Given the description of an element on the screen output the (x, y) to click on. 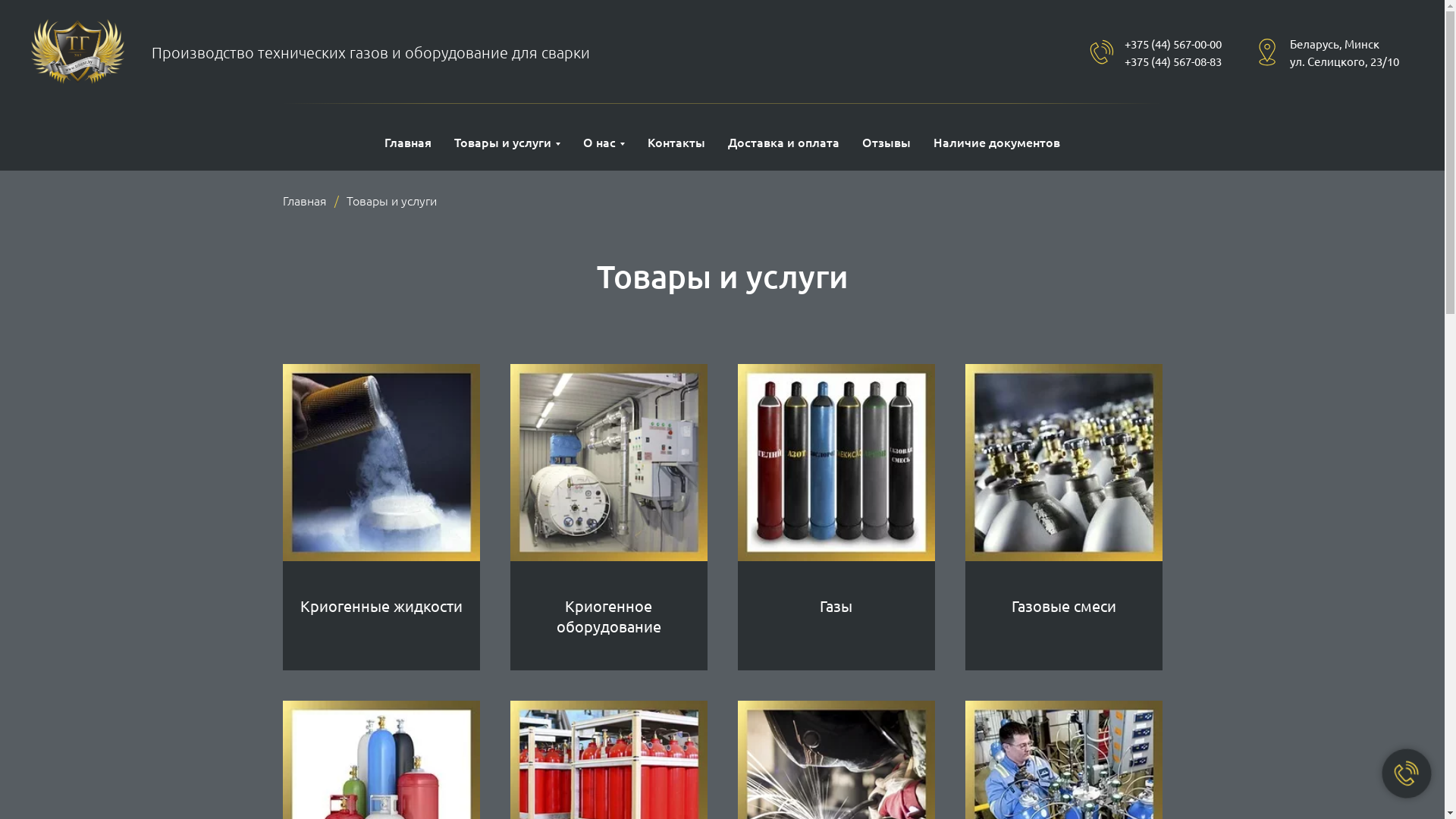
+375 (44) 567-00-00 Element type: text (1172, 43)
+375 (44) 567-08-83 Element type: text (1172, 60)
